Given the description of an element on the screen output the (x, y) to click on. 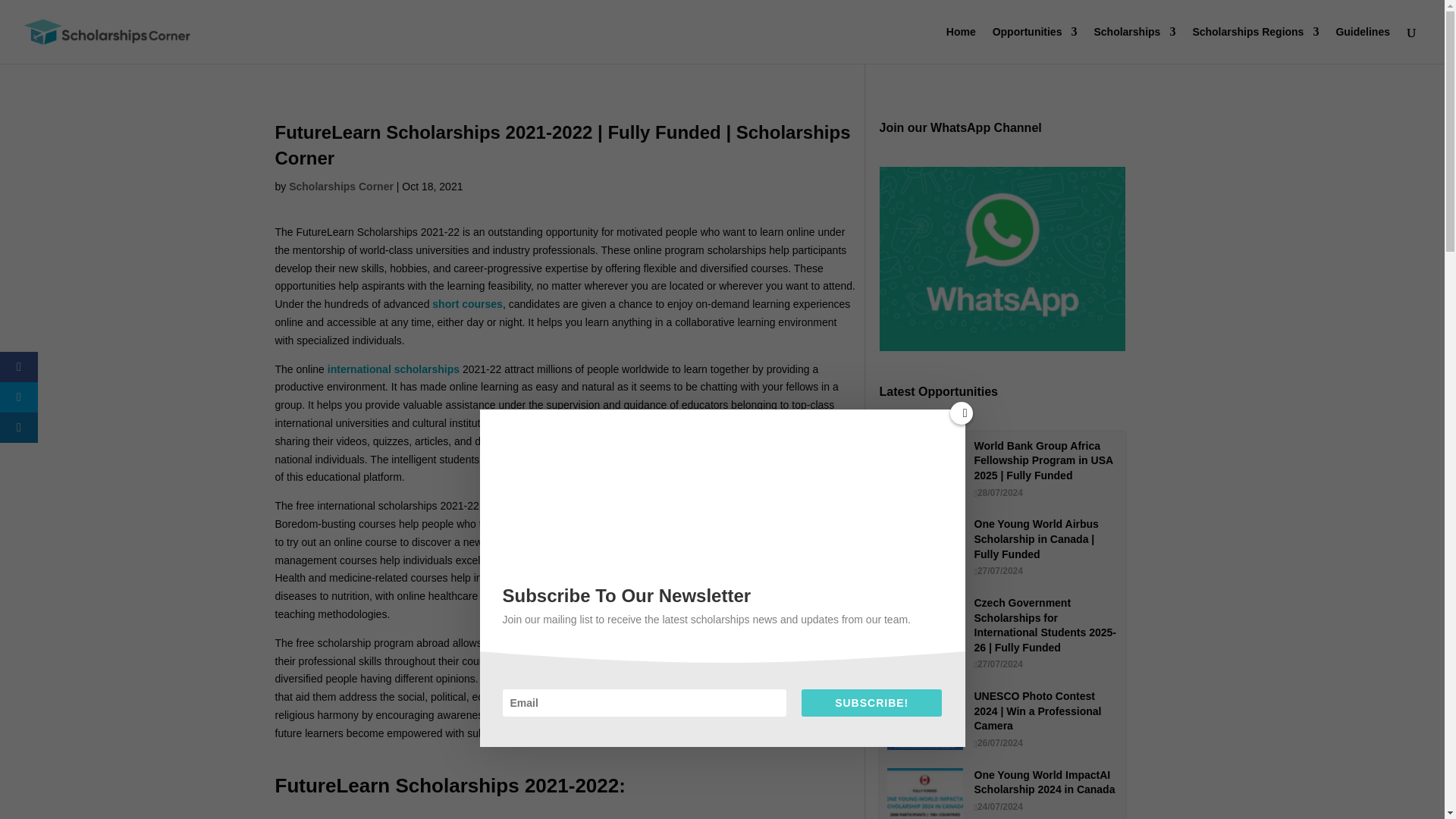
Scholarships Corner (340, 186)
Posts by Scholarships Corner (340, 186)
Scholarships Regions (1255, 44)
Scholarships (1133, 44)
Guidelines (1362, 44)
Opportunities (1034, 44)
